Given the description of an element on the screen output the (x, y) to click on. 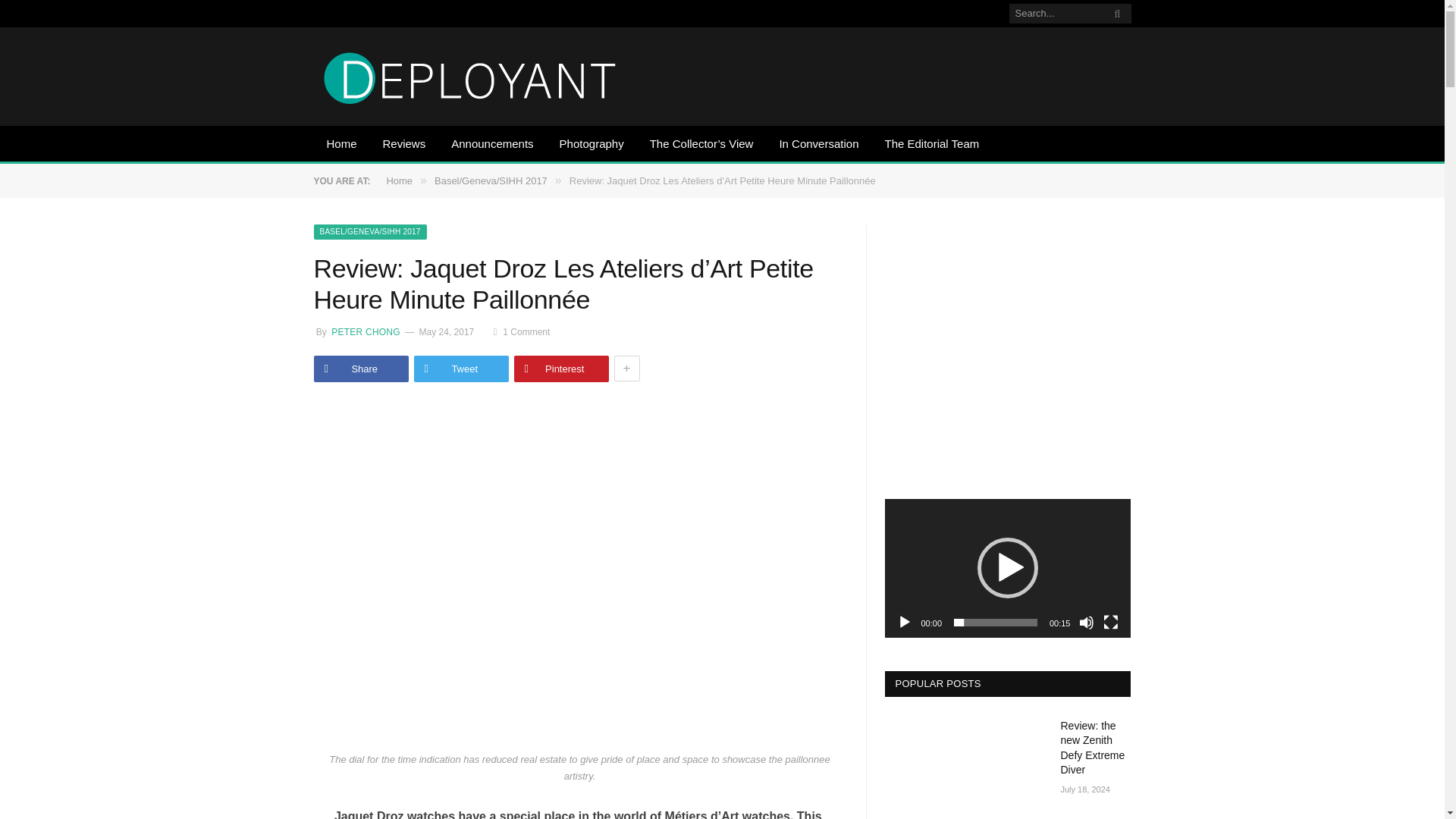
Photography (592, 144)
Home (341, 144)
Photography (592, 144)
Reviews (404, 144)
Pinterest (560, 368)
Home (341, 144)
In Conversation (817, 144)
In Conversation (817, 144)
The Editorial Team (930, 144)
DEPLOYANT (470, 75)
Share (361, 368)
Reviews (404, 144)
Announcements (492, 144)
Home (398, 180)
Tweet (460, 368)
